Given the description of an element on the screen output the (x, y) to click on. 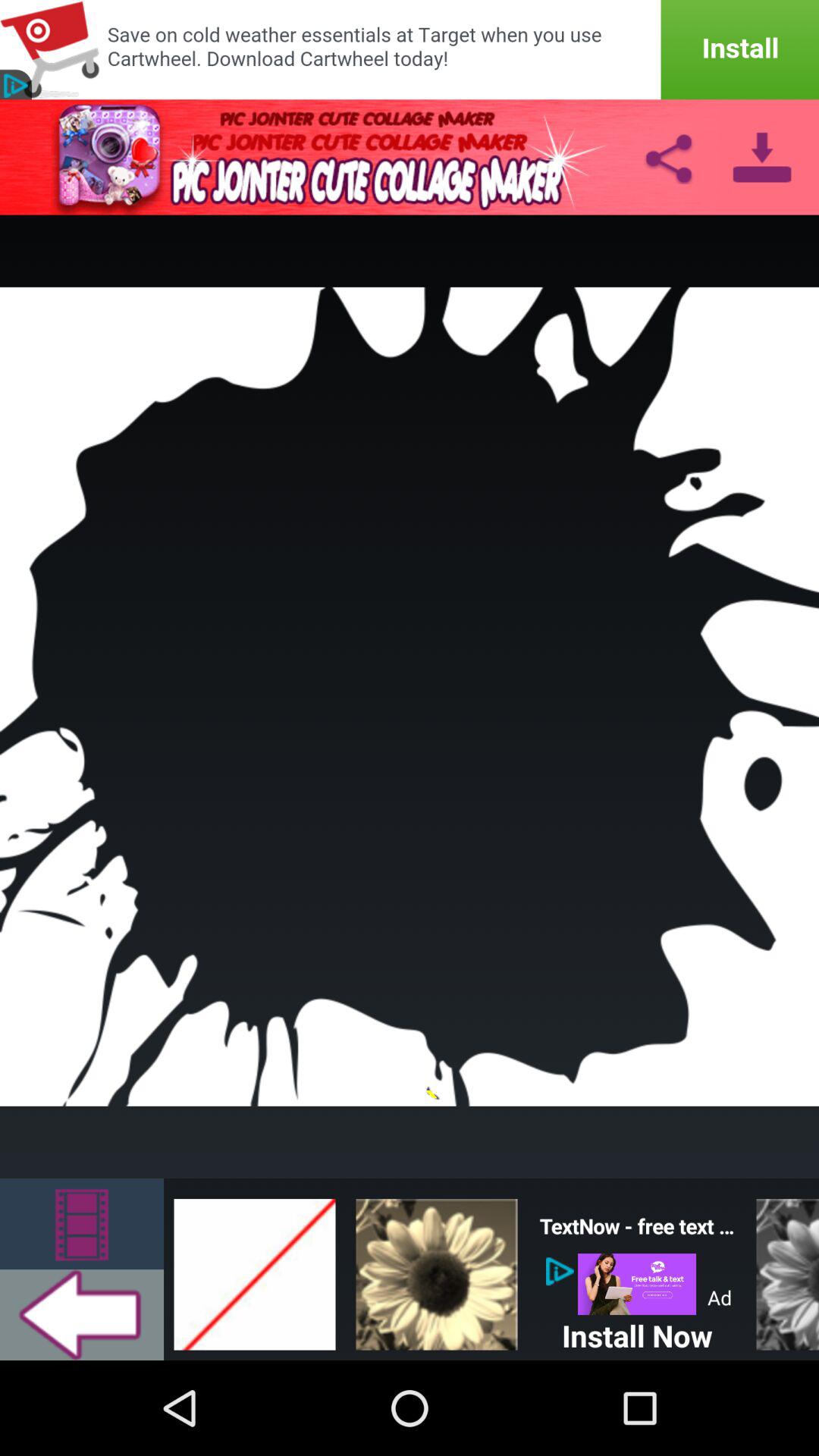
share (668, 156)
